Given the description of an element on the screen output the (x, y) to click on. 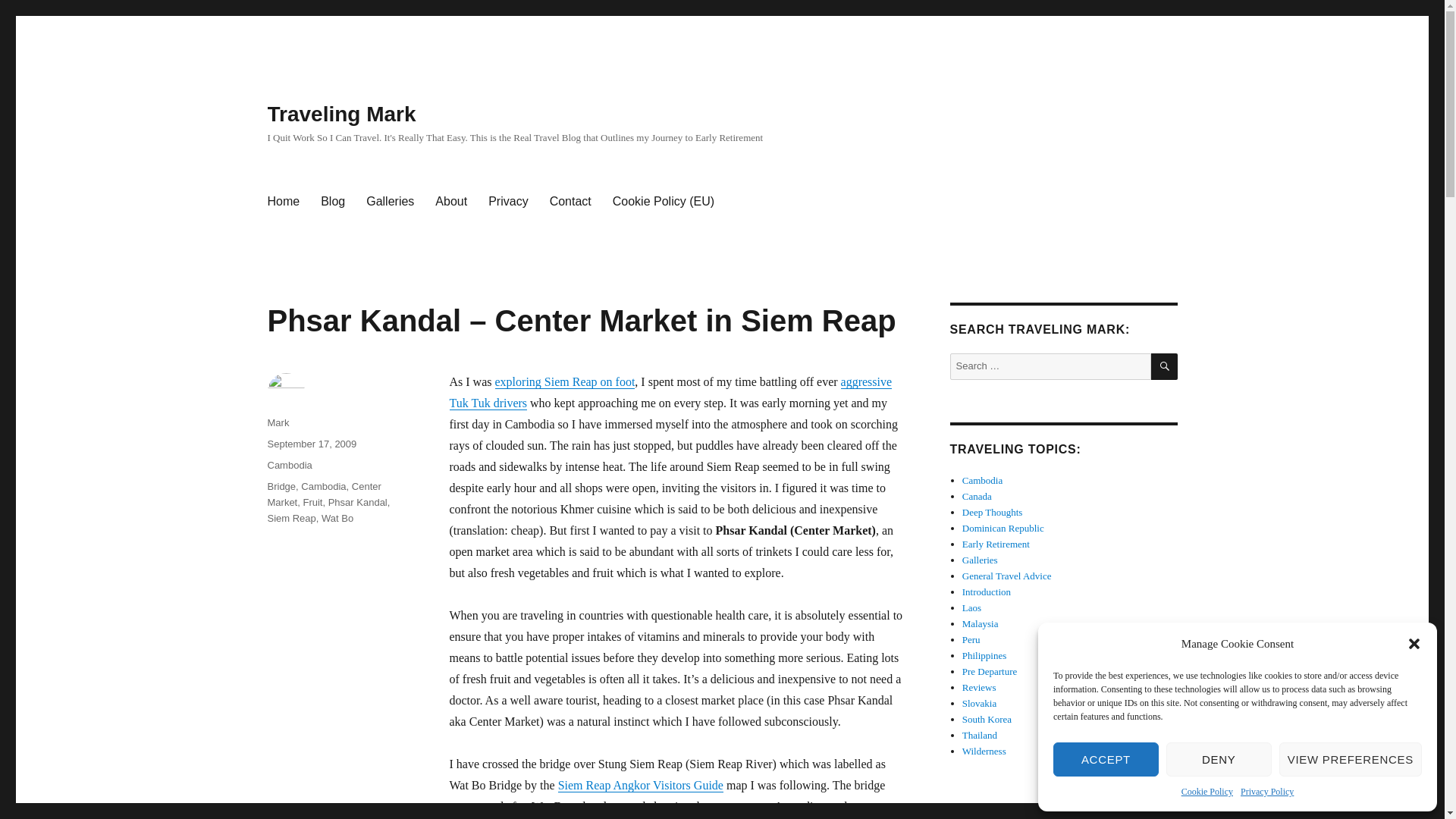
September 17, 2009 (311, 443)
Bridge (280, 486)
Traveling Mark (283, 201)
Cambodia (288, 464)
Fruit (311, 501)
Tuk Tuk drivers (487, 402)
Home (283, 201)
ACCEPT (1105, 759)
Privacy (507, 201)
Mark (277, 422)
